Given the description of an element on the screen output the (x, y) to click on. 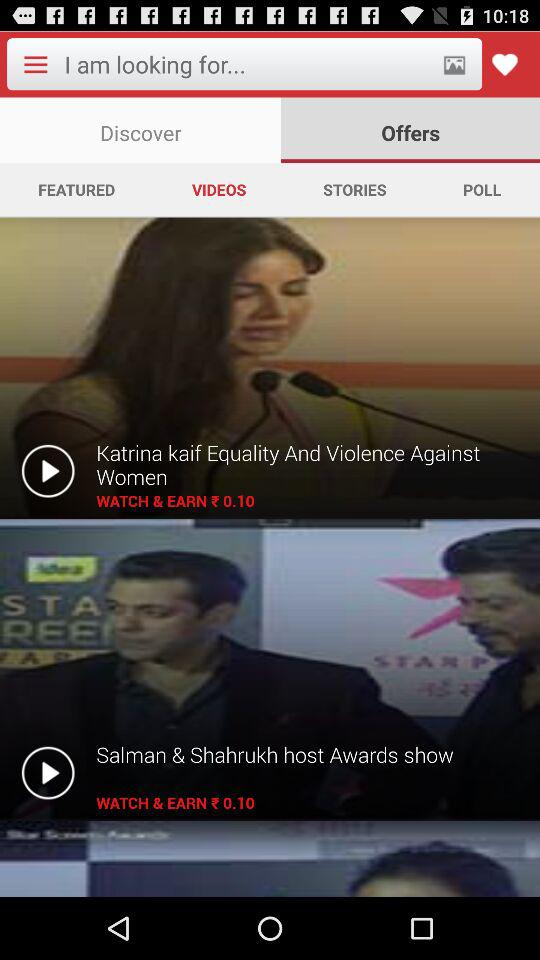
launch the app to the left of the offers icon (140, 130)
